Given the description of an element on the screen output the (x, y) to click on. 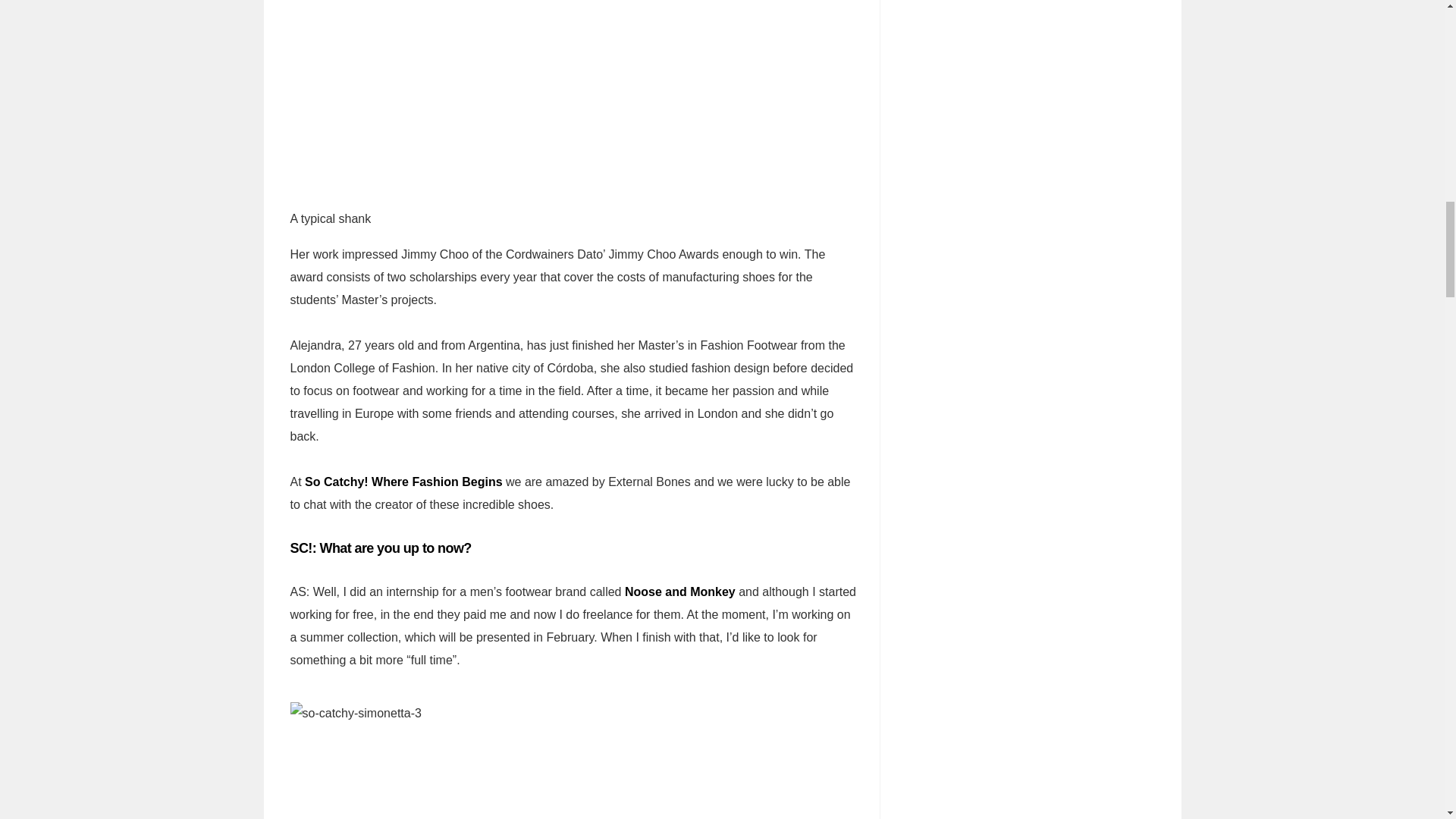
Noose and Monkey (679, 591)
So Catchy! Facebook (403, 481)
So Catchy! Where Fashion Begins (403, 481)
Noose and Monkey (679, 591)
